Given the description of an element on the screen output the (x, y) to click on. 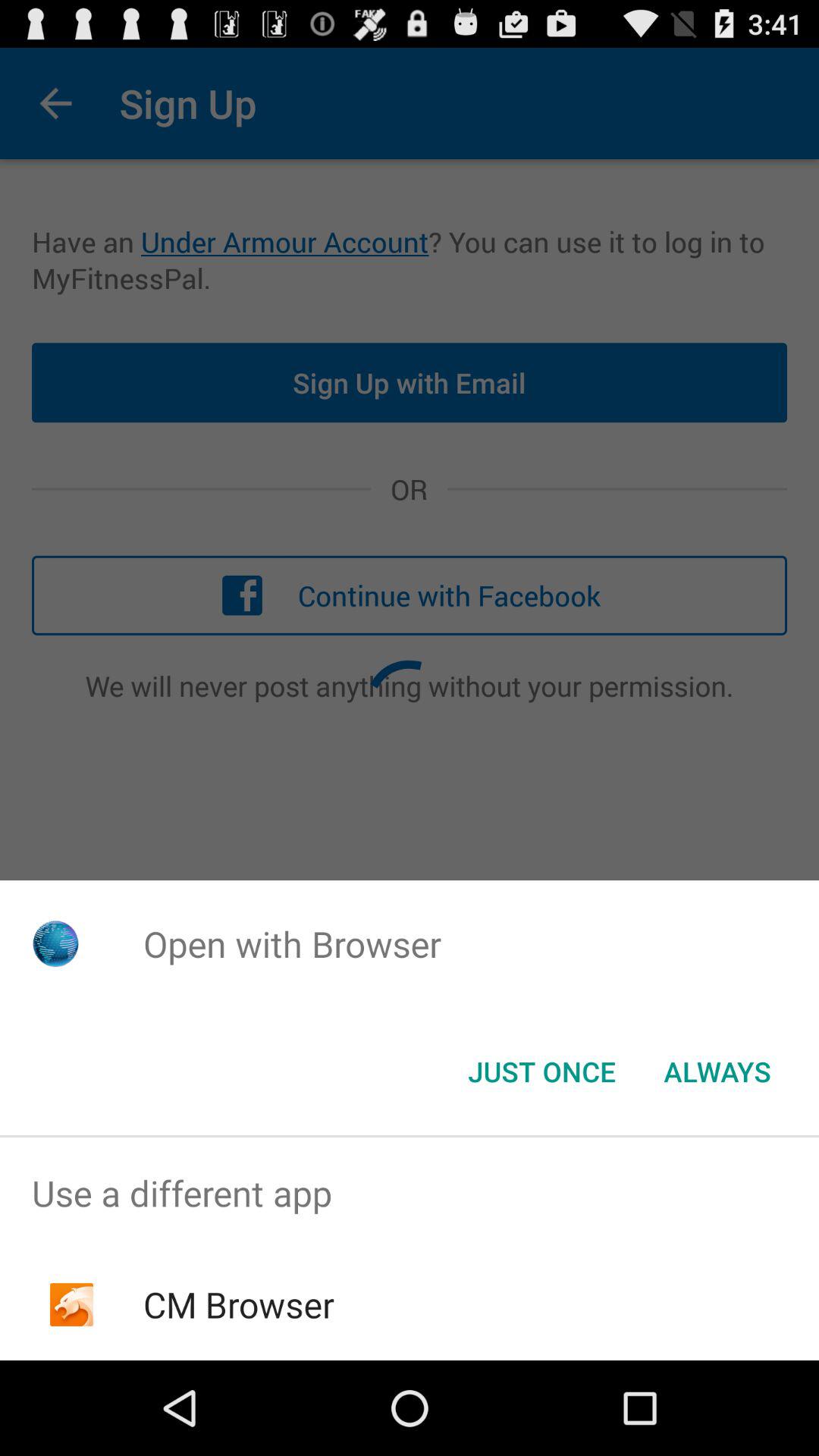
select cm browser (238, 1304)
